Given the description of an element on the screen output the (x, y) to click on. 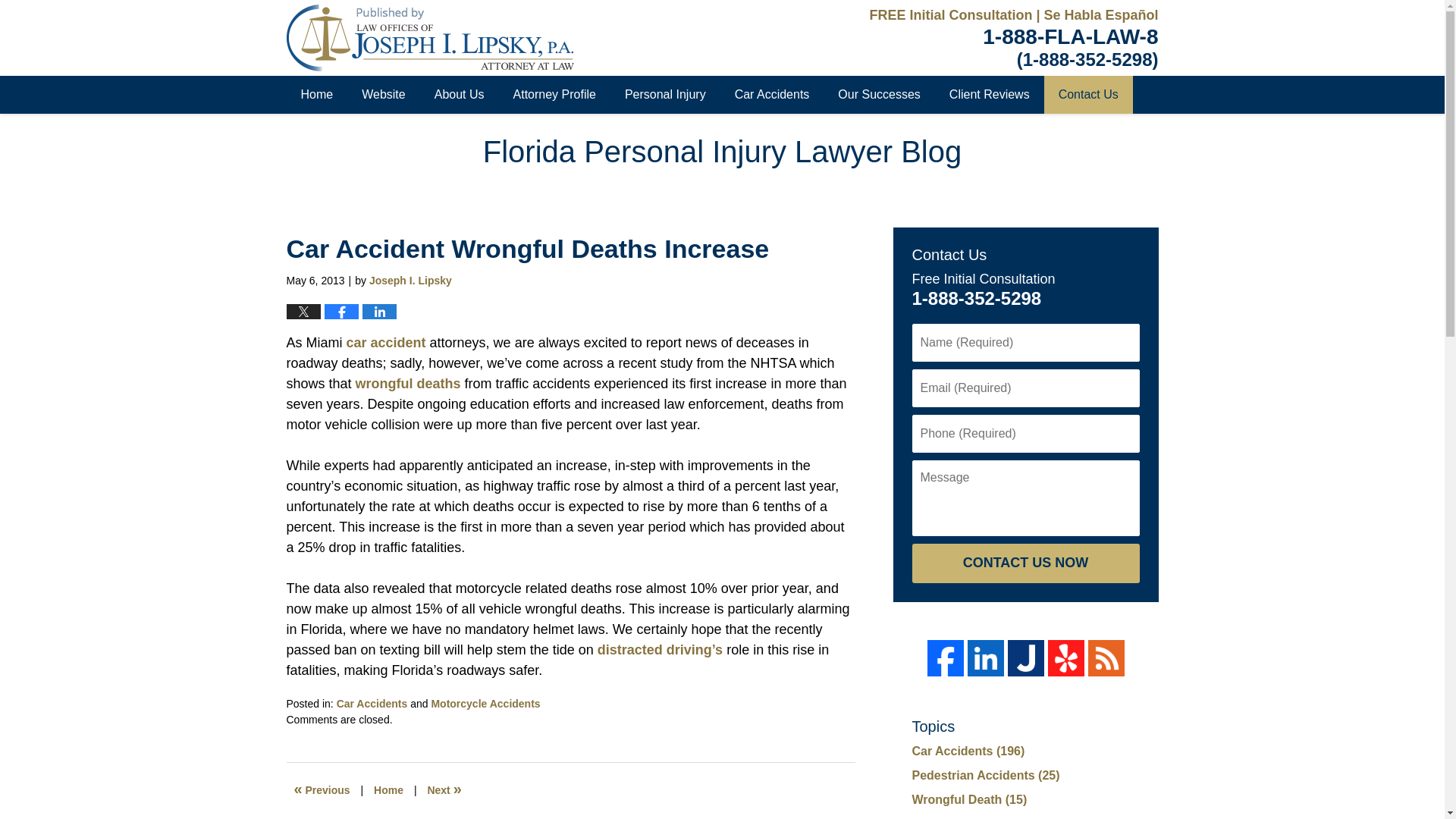
Contact Us (1087, 94)
Car Accidents (371, 703)
Florida Personal Injury Lawyer Blog (429, 37)
Client Reviews (988, 94)
Car Accidents (772, 94)
Attorney Profile (554, 94)
Car Accident Deaths of Young Drivers Increase (443, 789)
View all posts in Car Accidents (371, 703)
About Us (459, 94)
Personal Injury (665, 94)
Website (383, 94)
Justia (1025, 657)
wrongful deaths (409, 383)
Home (388, 789)
Joseph I. Lipsky (410, 280)
